Given the description of an element on the screen output the (x, y) to click on. 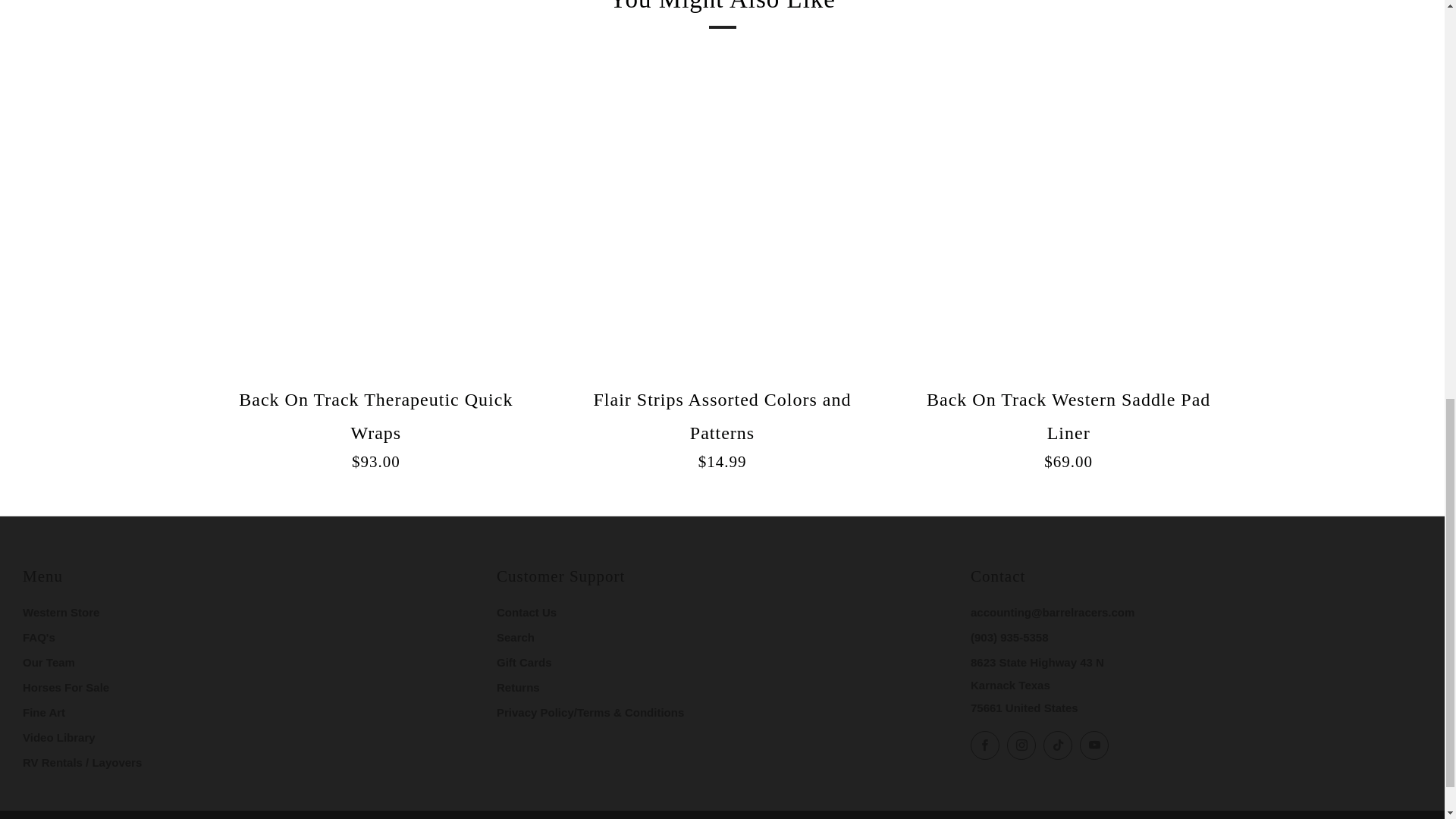
Back On Track Therapeutic Quick Wraps (376, 426)
Flair Strips Assorted Colors and Patterns (721, 426)
Back On Track Western Saddle Pad Liner (1068, 426)
